Given the description of an element on the screen output the (x, y) to click on. 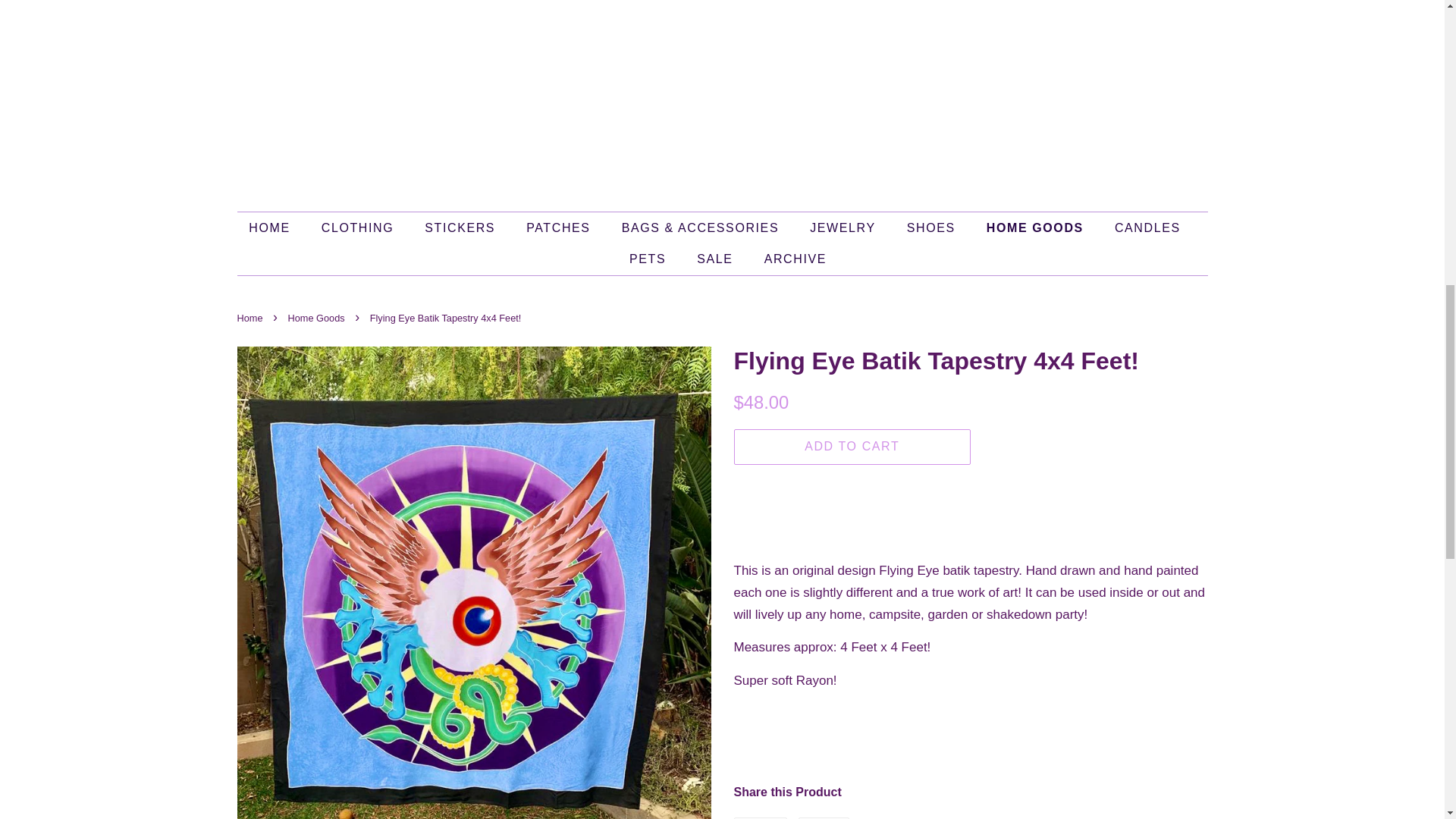
ARCHIVE (789, 258)
PATCHES (560, 227)
SHOES (933, 227)
JEWELRY (843, 227)
CLOTHING (359, 227)
CANDLES (1149, 227)
HOME (276, 227)
PETS (649, 258)
Share on Facebook (760, 818)
Home (250, 317)
